Given the description of an element on the screen output the (x, y) to click on. 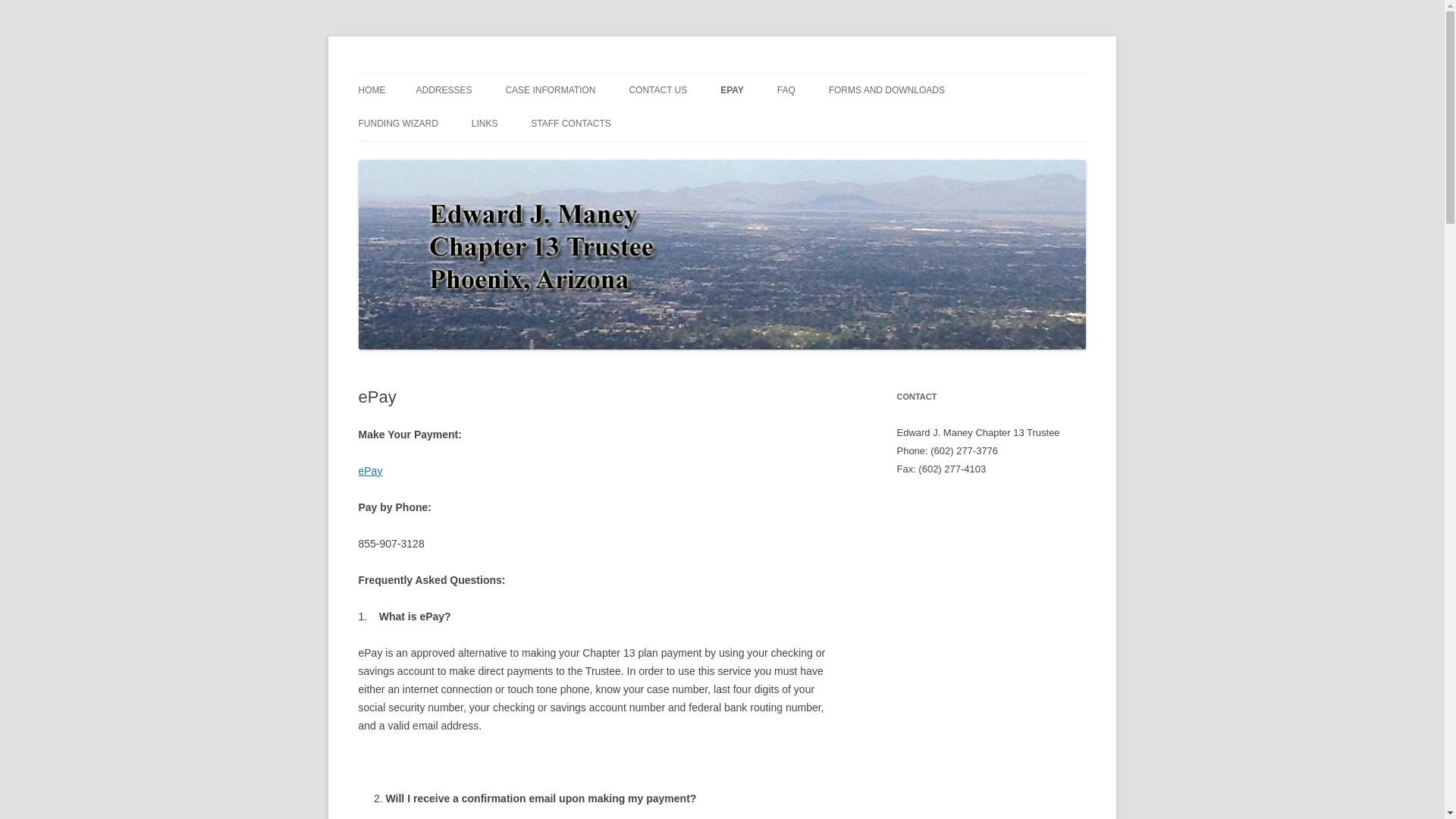
ADDRESSES (442, 90)
CASE INFORMATION (550, 90)
Edward J. Maney, Chapter 13 Trustee (531, 72)
Edward J. Maney, Chapter 13 Trustee (531, 72)
FORMS AND DOWNLOADS (886, 90)
ePay (369, 470)
STAFF CONTACTS (571, 123)
FUNDING WIZARD (398, 123)
CONTACT US (657, 90)
